Given the description of an element on the screen output the (x, y) to click on. 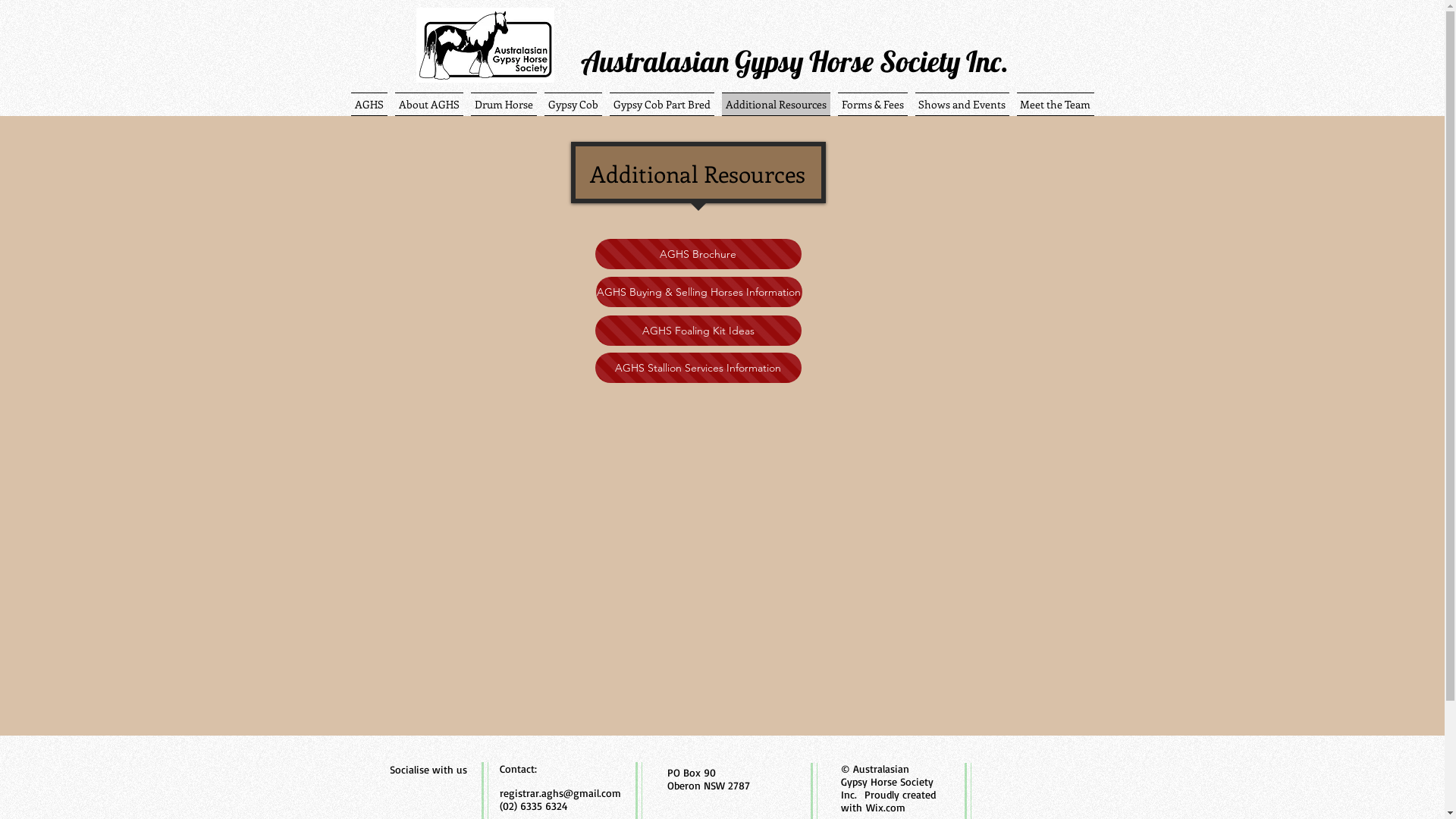
AGHS Element type: text (370, 104)
About AGHS Element type: text (429, 104)
Forms & Fees Element type: text (872, 104)
AGHS Brochure Element type: text (697, 253)
Meet the Team Element type: text (1053, 104)
Shows and Events Element type: text (962, 104)
Gypsy Cob Part Bred Element type: text (661, 104)
registrar.aghs@gmail.com Element type: text (559, 792)
Gypsy Cob Element type: text (572, 104)
AGHS Foaling Kit Ideas Element type: text (697, 330)
Drum Horse Element type: text (503, 104)
Additional Resources Element type: text (775, 104)
AGHS Buying & Selling Horses Information Element type: text (699, 291)
AGHS Stallion Services Information Element type: text (697, 367)
Wix.com Element type: text (885, 806)
